Given the description of an element on the screen output the (x, y) to click on. 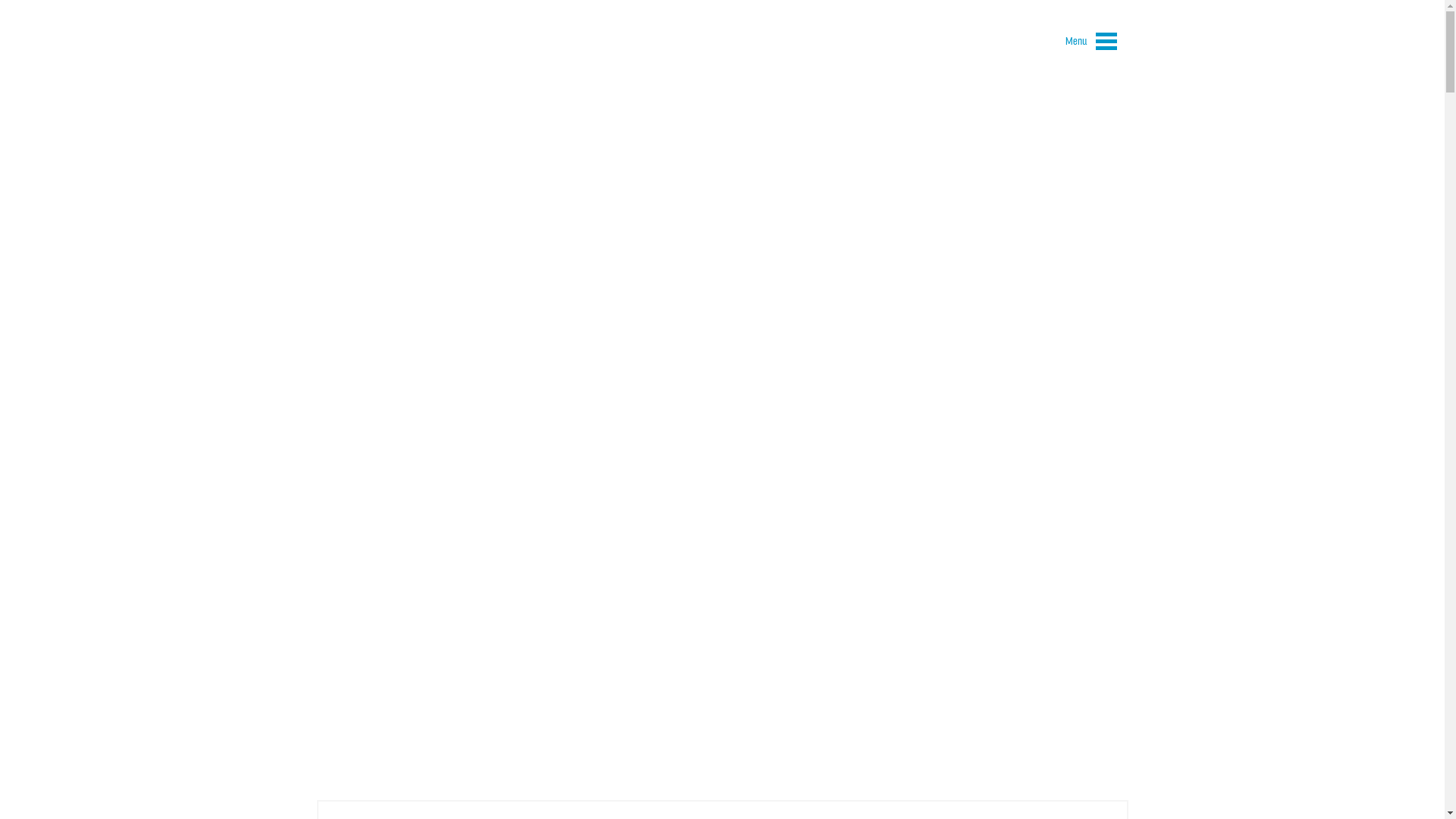
Menu Element type: text (1091, 44)
